Given the description of an element on the screen output the (x, y) to click on. 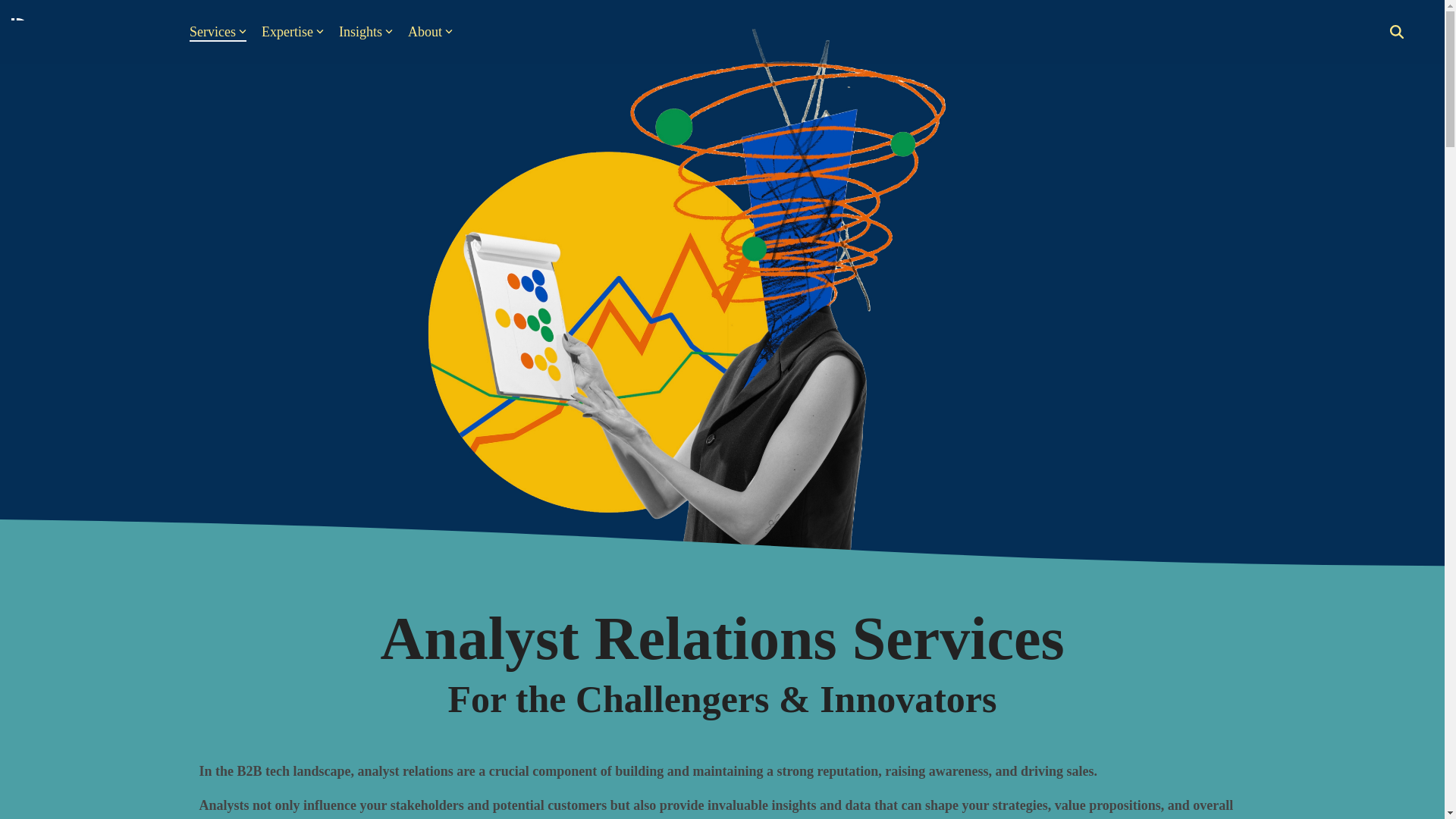
About (429, 31)
Insights (366, 31)
Expertise (292, 31)
Services (217, 31)
resonance-logo-white (87, 31)
